Given the description of an element on the screen output the (x, y) to click on. 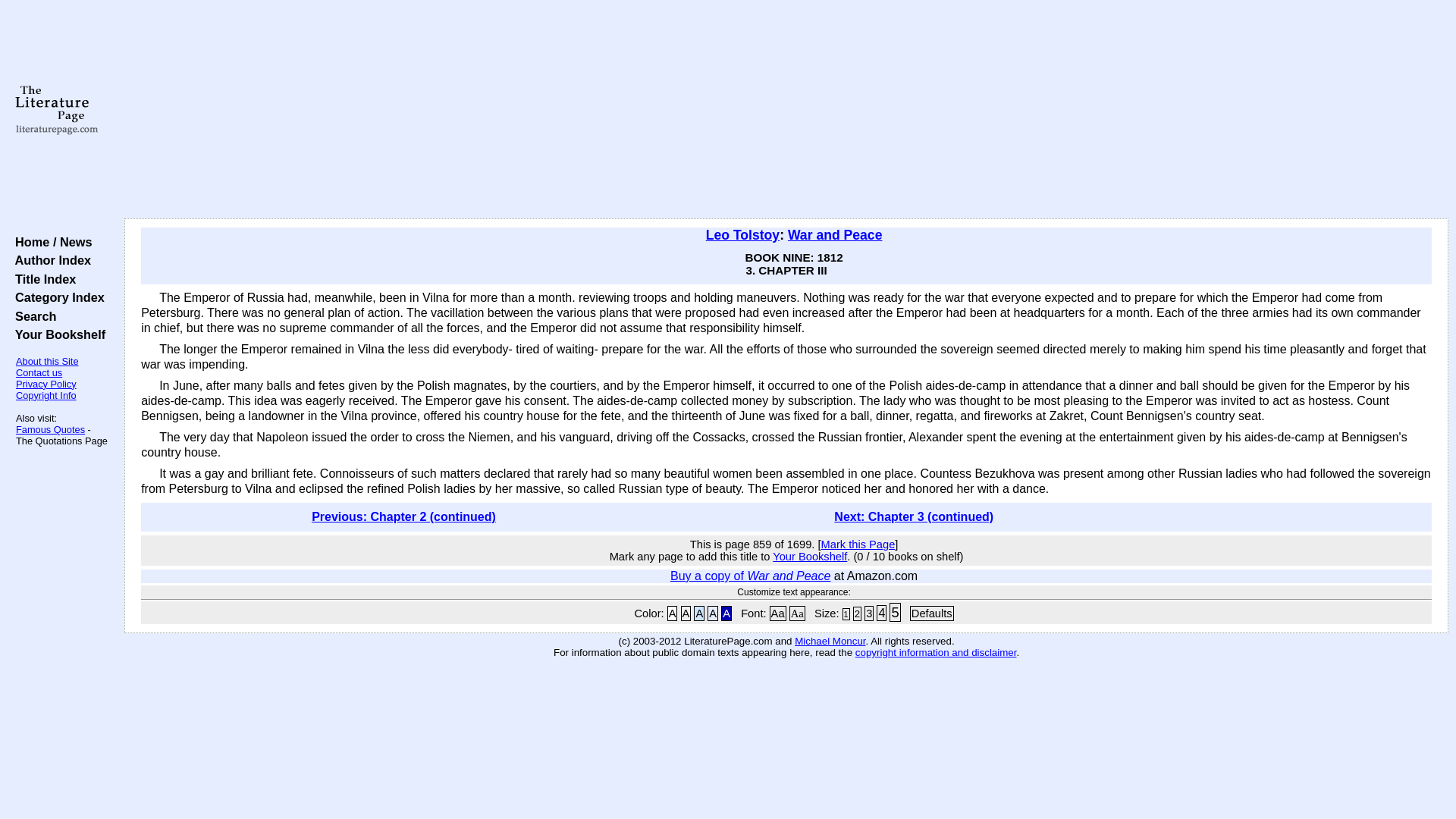
  Author Index (49, 259)
Copyright Info (46, 395)
Color 3 (699, 613)
Defaults (931, 613)
  Your Bookshelf (56, 334)
A (672, 613)
Color 2 (686, 613)
Size 4 (881, 612)
copyright information and disclaimer (936, 652)
Privacy Policy (46, 383)
Famous Quotes (50, 429)
Buy a copy of War and Peace (749, 575)
About this Site (47, 360)
  Search (32, 315)
